Given the description of an element on the screen output the (x, y) to click on. 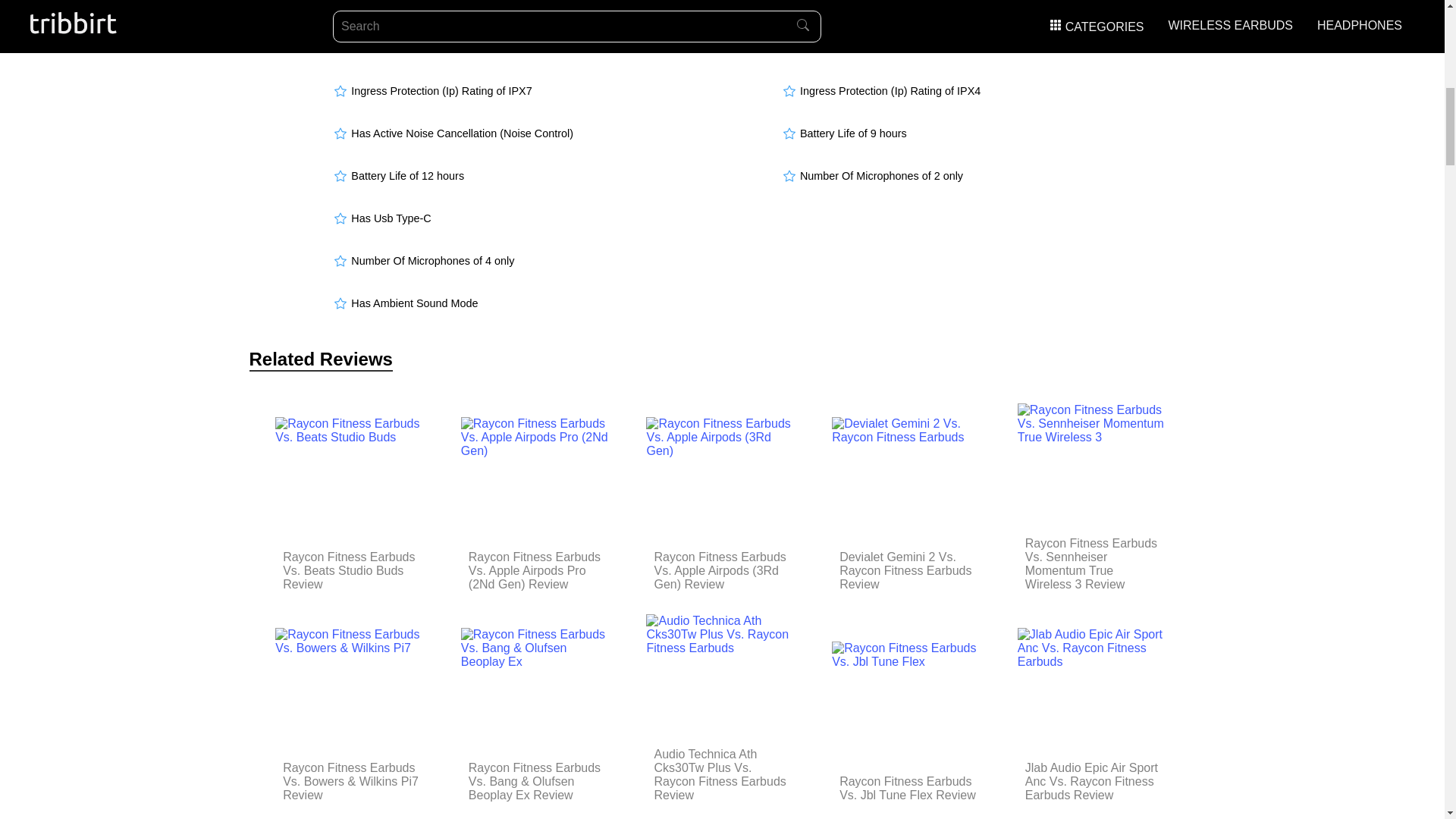
Raycon Fitness Earbuds Vs. Beats Studio Buds Review (350, 570)
Raycon Fitness Earbuds Vs. Jbl Tune Flex Review (907, 788)
Devialet Gemini 2 Vs. Raycon Fitness Earbuds Review (907, 570)
